Given the description of an element on the screen output the (x, y) to click on. 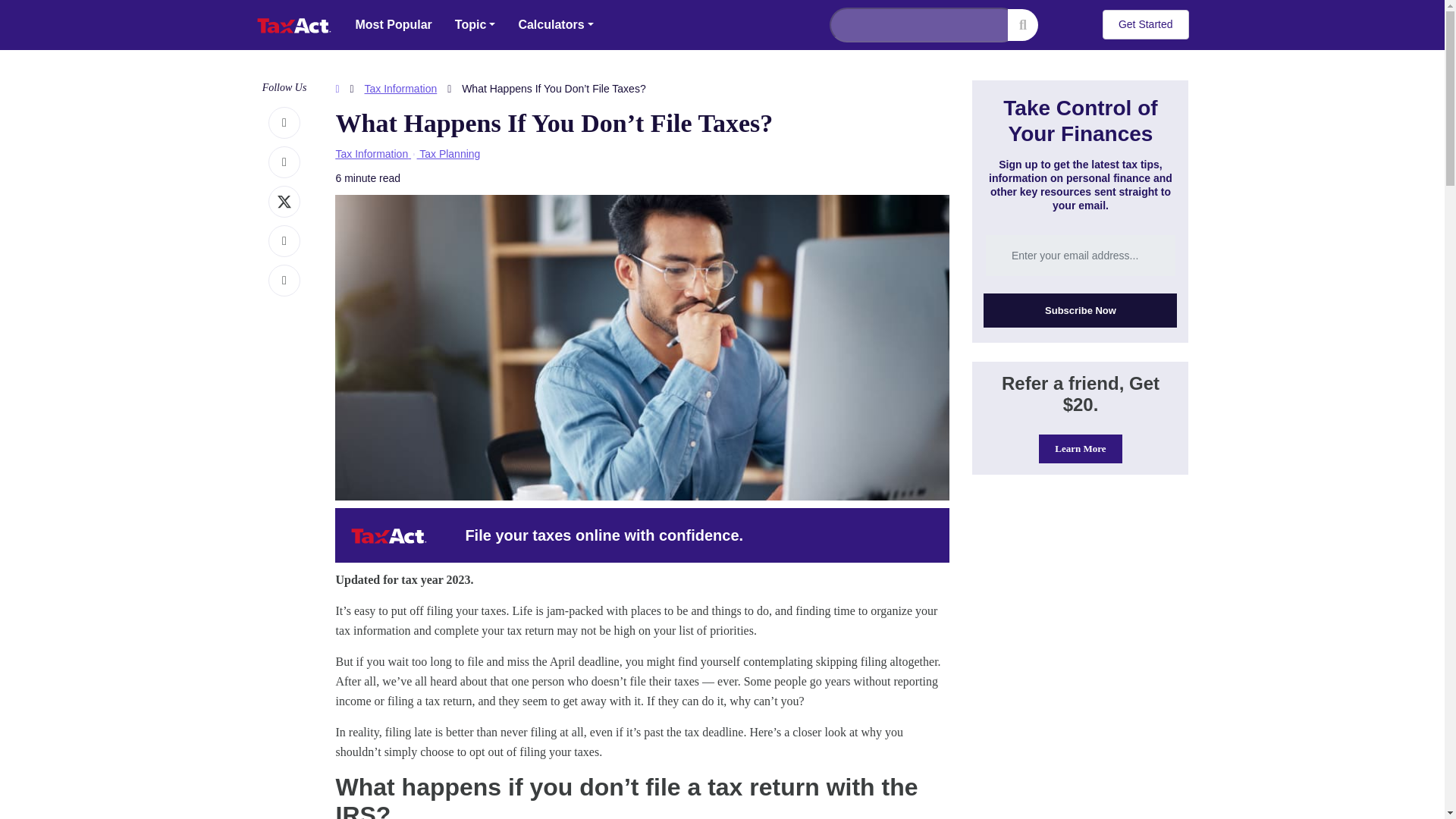
Linkedin (284, 240)
Youtube (284, 280)
Tax Planning (449, 153)
Facebook (284, 122)
Tax Information (370, 153)
Instagram (284, 161)
Calculators (555, 24)
Most Popular (393, 24)
Get Started (1145, 24)
Subscribe Now (1080, 310)
